Given the description of an element on the screen output the (x, y) to click on. 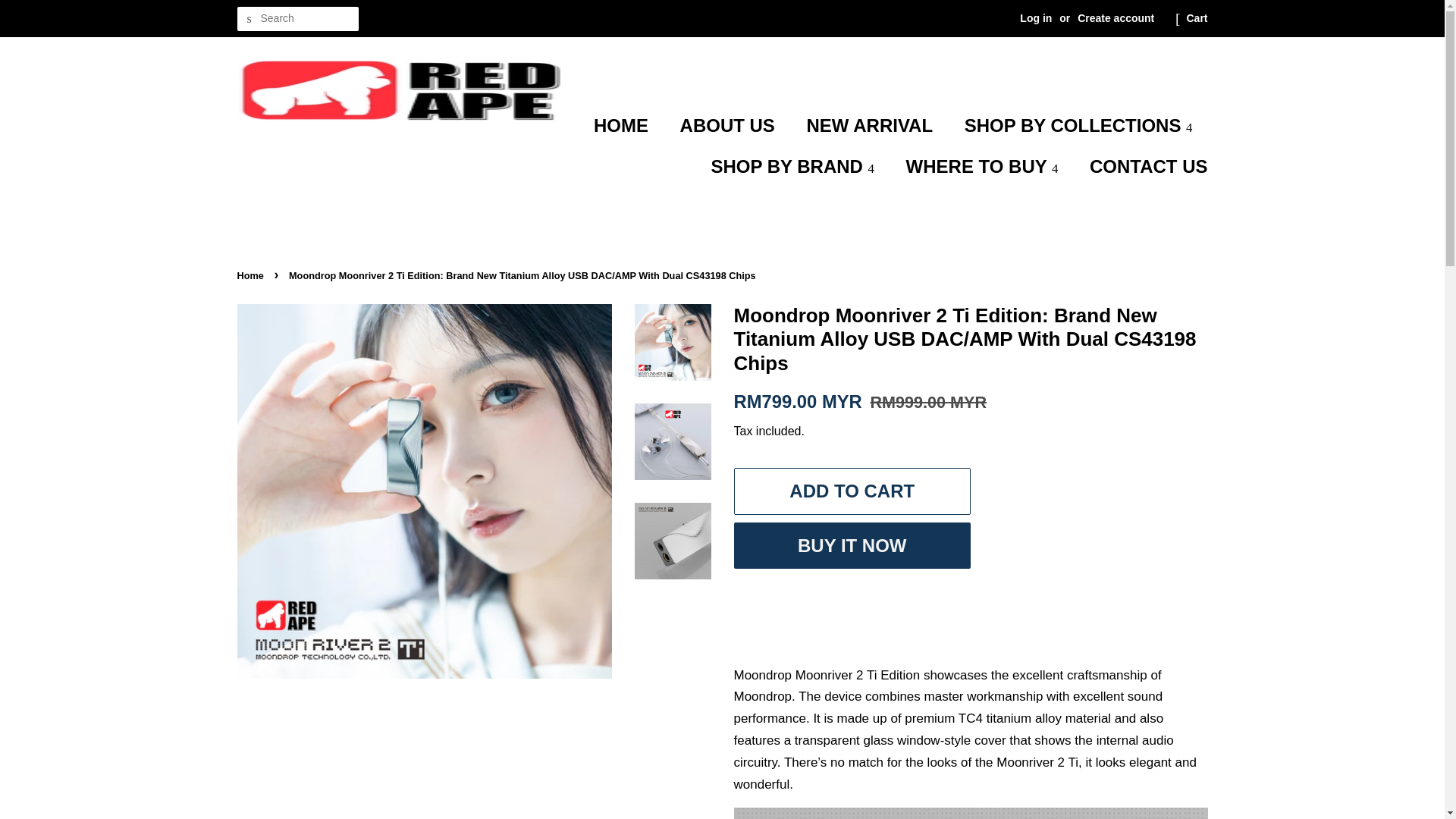
Log in (1035, 18)
SEARCH (247, 18)
Back to the frontpage (250, 275)
Create account (1115, 18)
Cart (1196, 18)
